Given the description of an element on the screen output the (x, y) to click on. 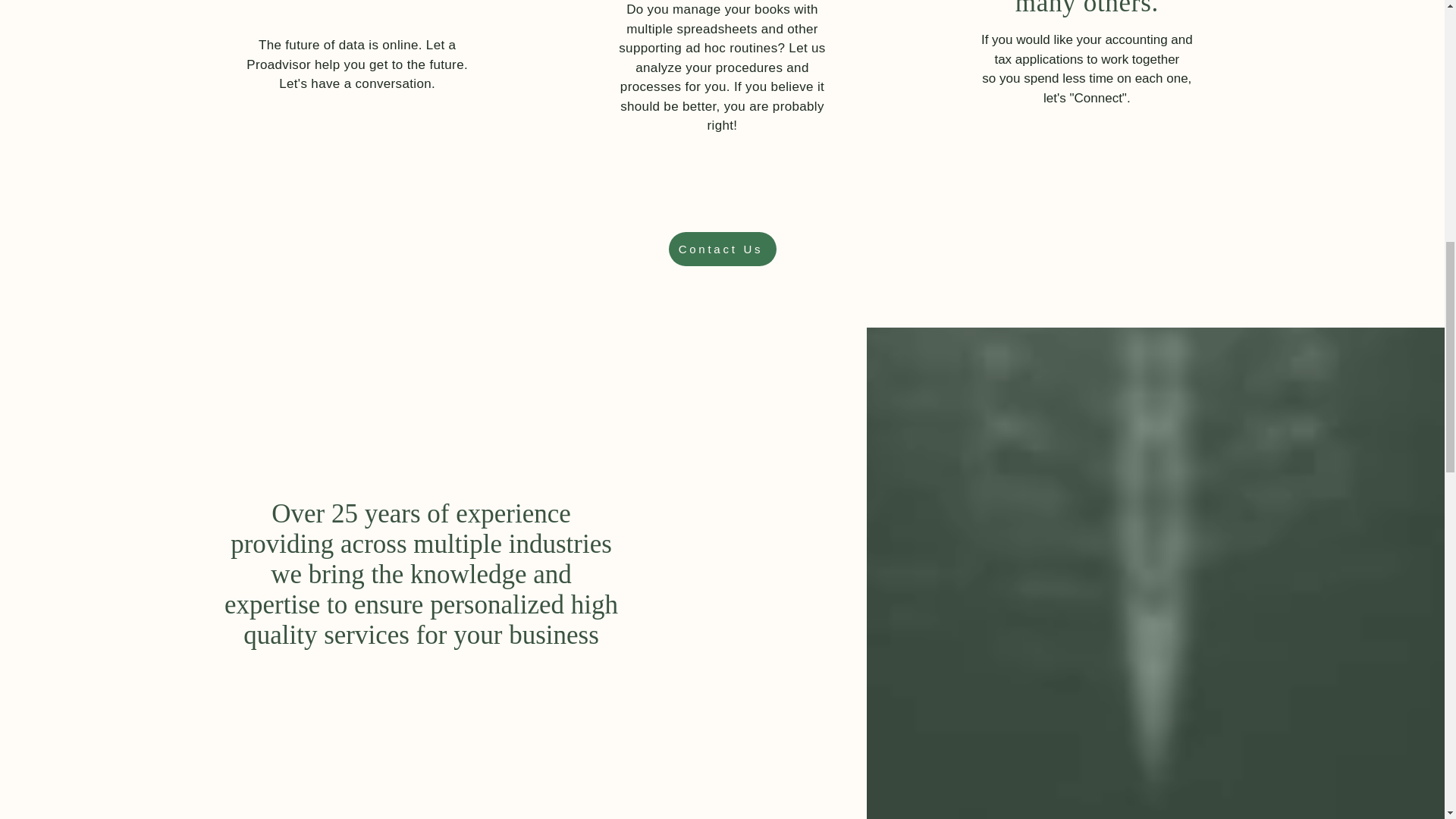
Contact Us (722, 248)
